Given the description of an element on the screen output the (x, y) to click on. 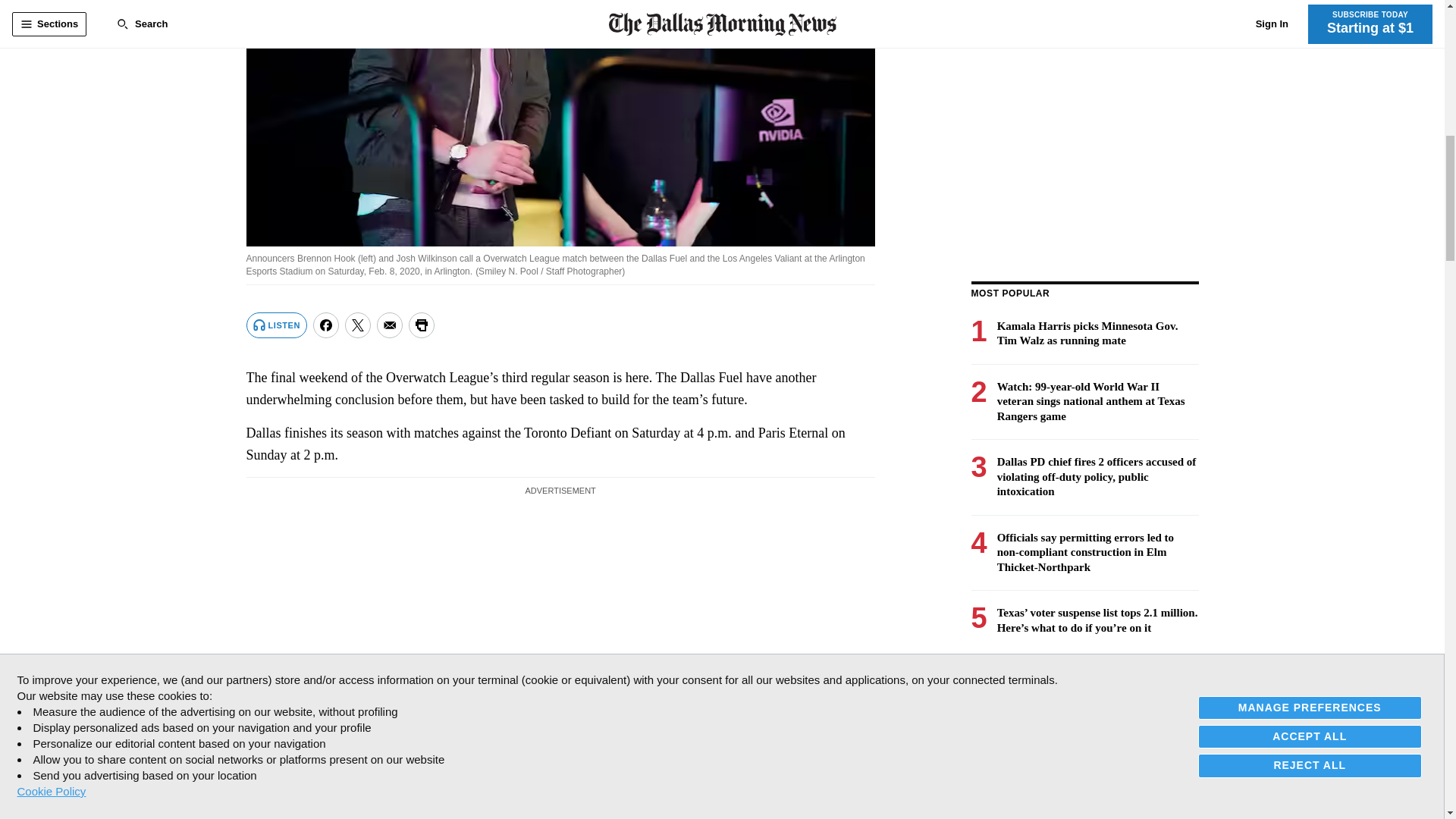
Share on Twitter (358, 325)
Share via Email (390, 325)
Print (421, 325)
Share on Facebook (326, 325)
